Given the description of an element on the screen output the (x, y) to click on. 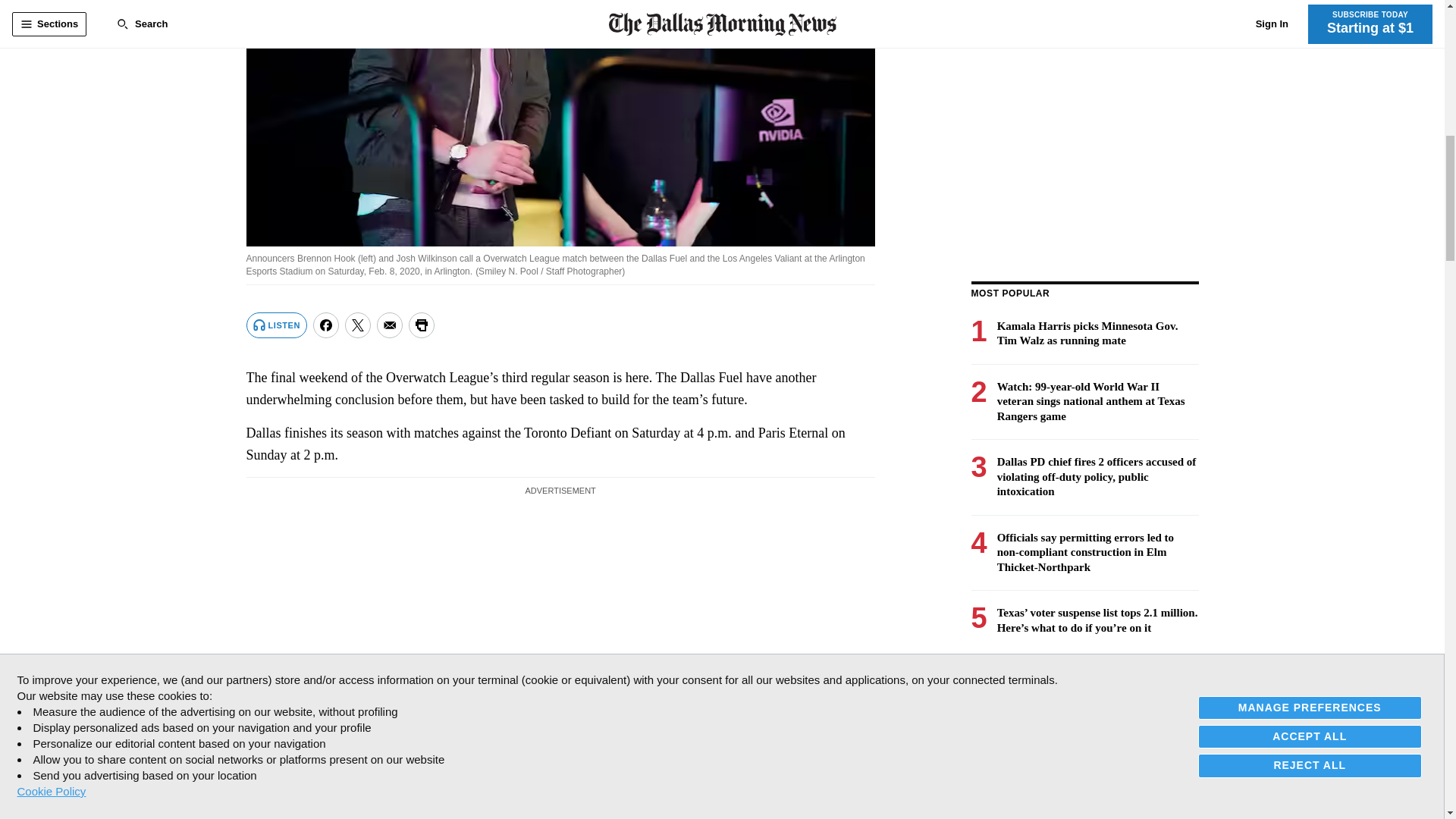
Share on Twitter (358, 325)
Share via Email (390, 325)
Print (421, 325)
Share on Facebook (326, 325)
